Given the description of an element on the screen output the (x, y) to click on. 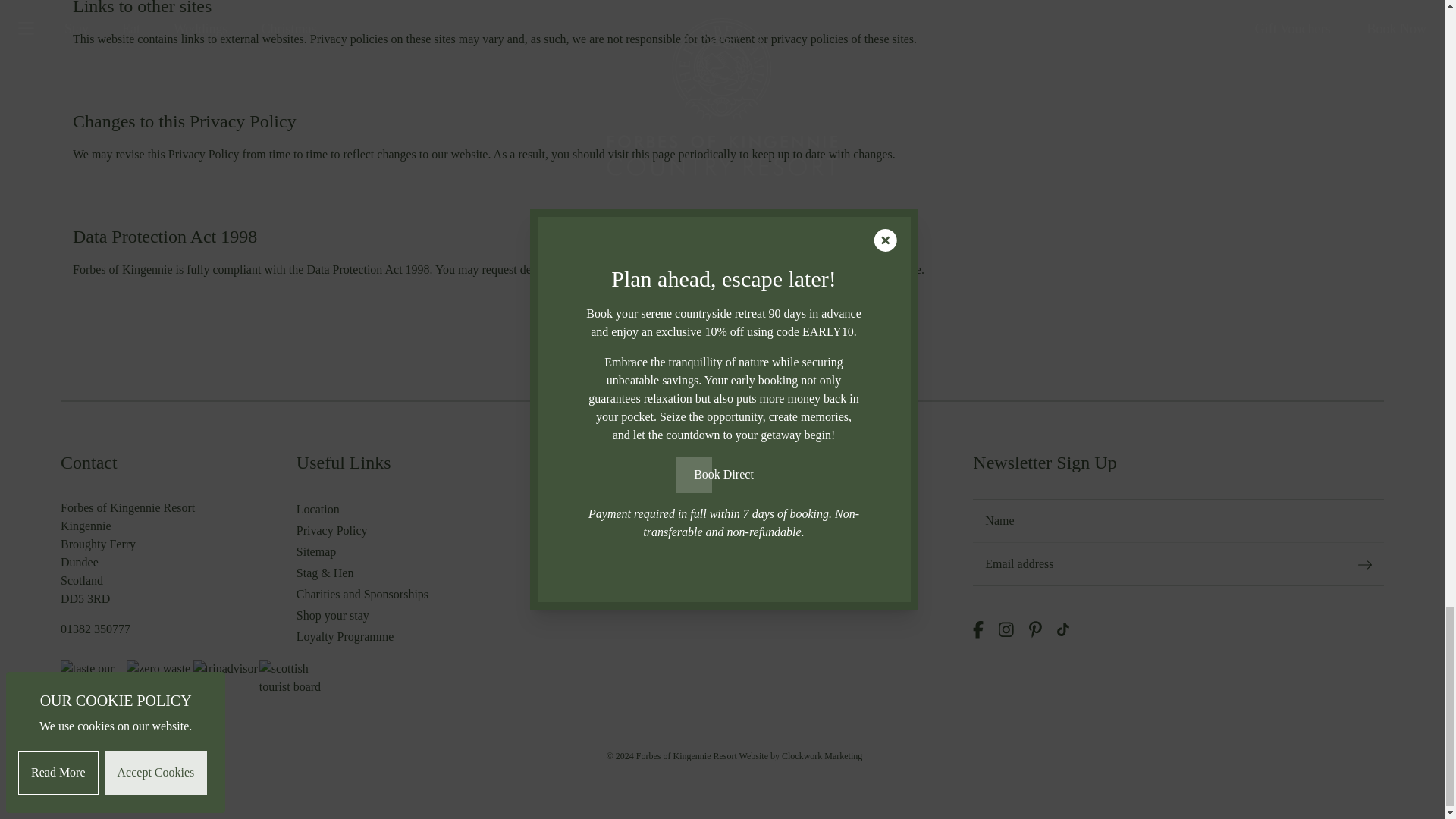
Clockwork Marketing (821, 756)
